Given the description of an element on the screen output the (x, y) to click on. 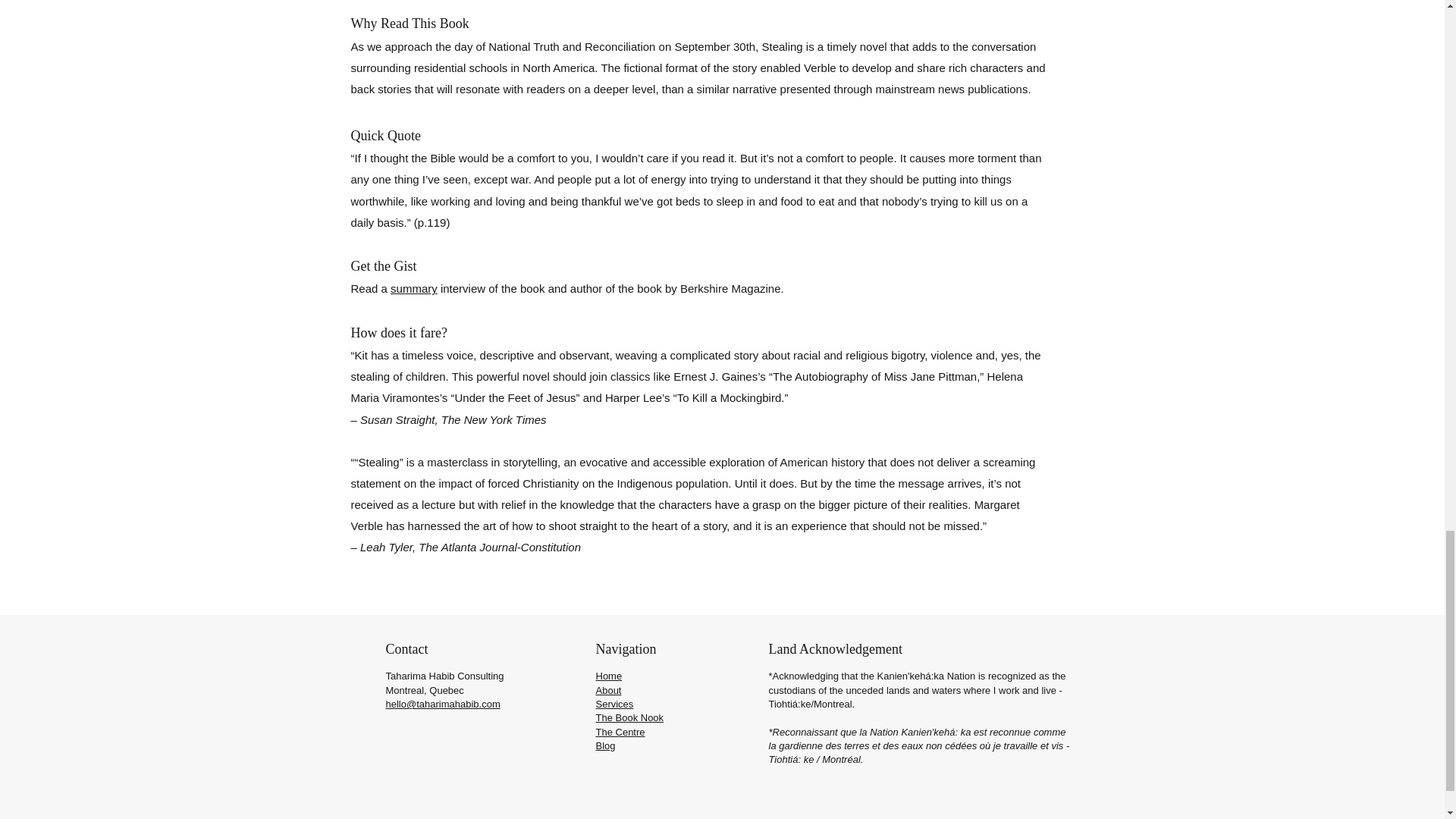
The Book Nook (629, 717)
Blog (605, 745)
summary (414, 287)
About (608, 690)
Services (614, 704)
The Centre (620, 731)
Home (609, 675)
